Given the description of an element on the screen output the (x, y) to click on. 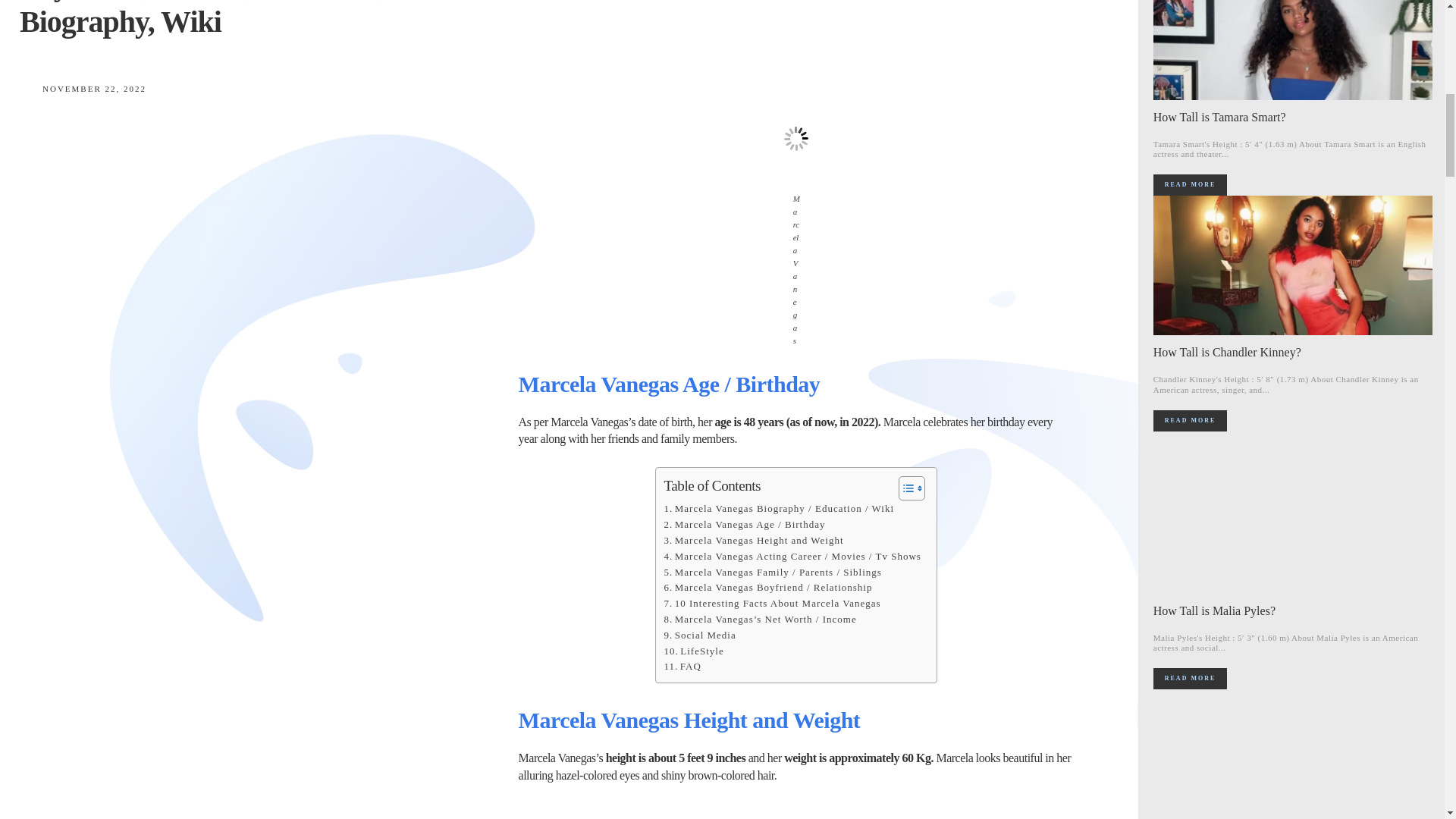
LifeStyle (693, 651)
FAQ (681, 666)
Social Media (699, 635)
Marcela Vanegas Height and Weight (753, 540)
10 Interesting Facts About Marcela Vanegas (771, 603)
How Tall is Tamara Smart? (1292, 49)
